Given the description of an element on the screen output the (x, y) to click on. 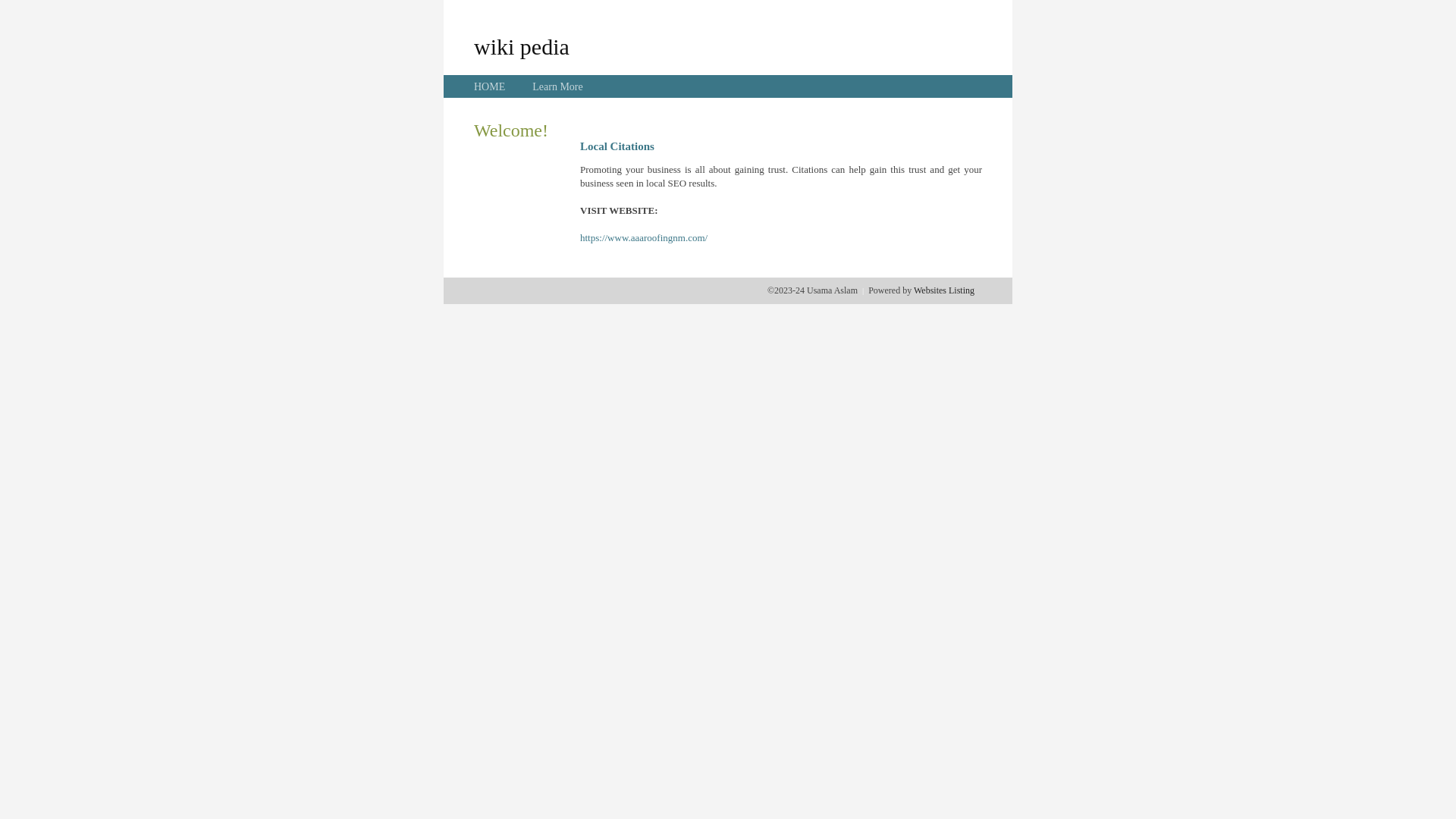
Learn More Element type: text (557, 86)
wiki pedia Element type: text (521, 46)
https://www.aaaroofingnm.com/ Element type: text (643, 237)
HOME Element type: text (489, 86)
Websites Listing Element type: text (943, 290)
